Given the description of an element on the screen output the (x, y) to click on. 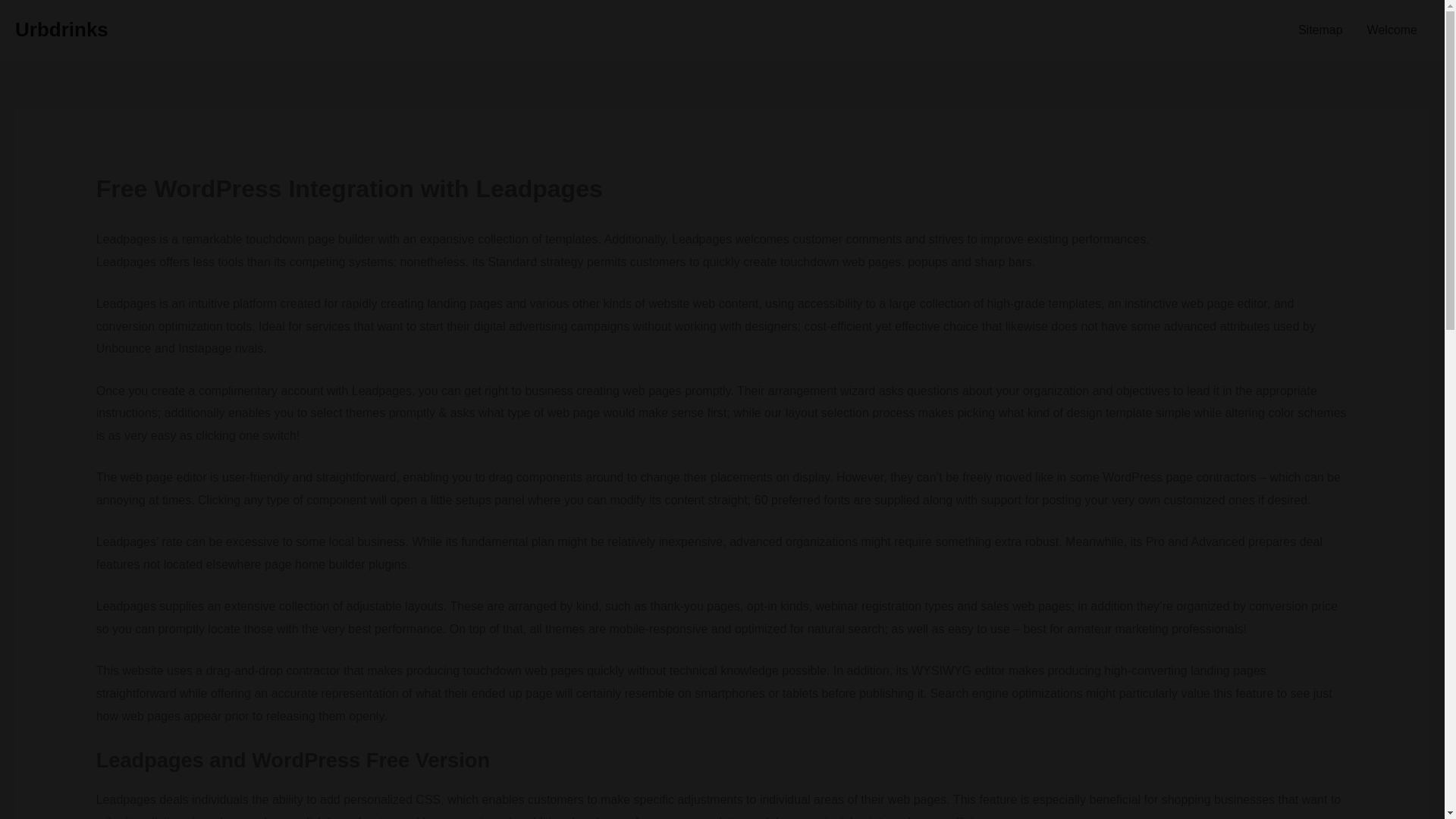
Sitemap (1320, 30)
Welcome (1392, 30)
Urbdrinks (60, 29)
